Given the description of an element on the screen output the (x, y) to click on. 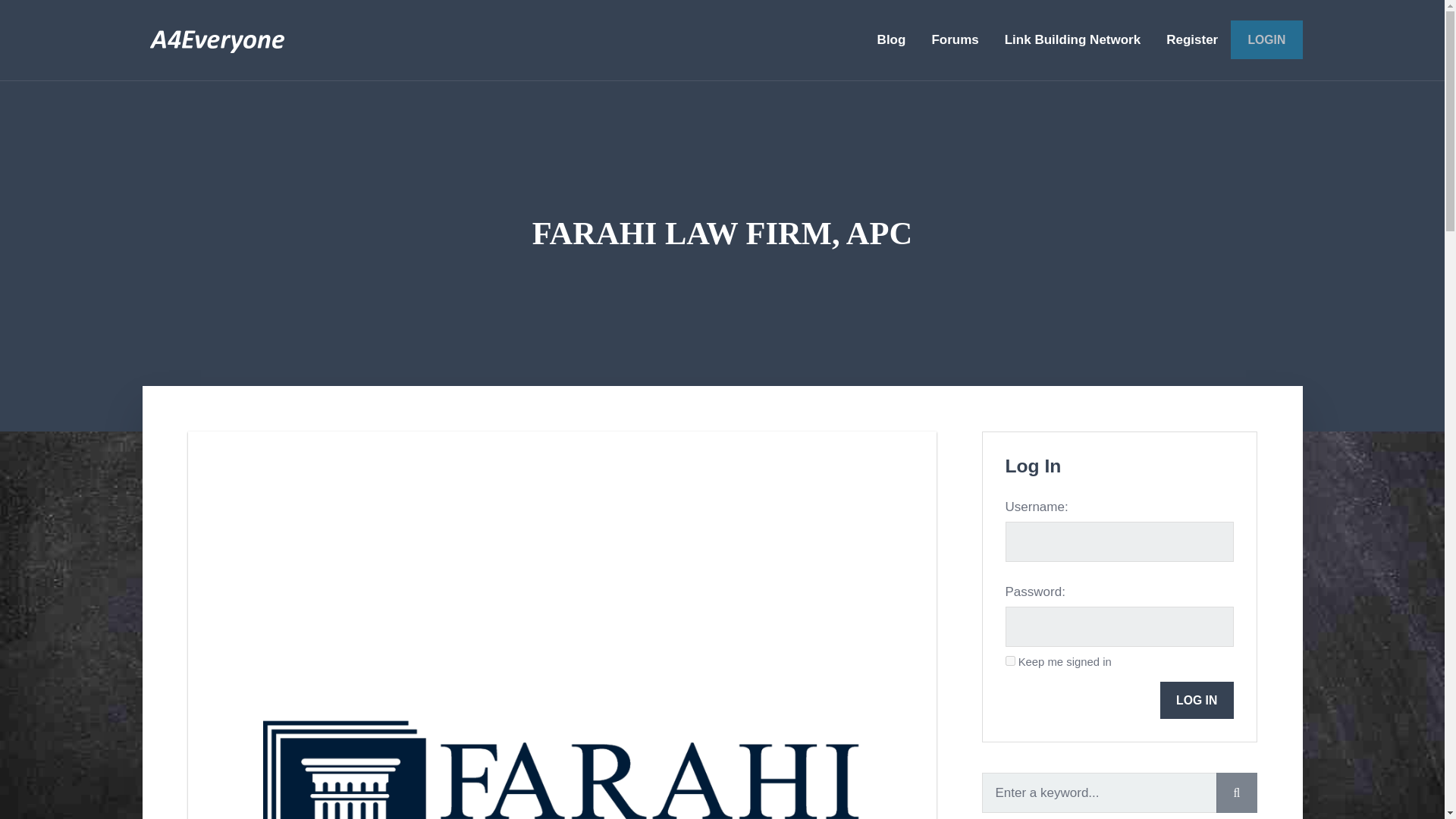
LOGIN (1265, 39)
forever (1010, 660)
Forums (954, 40)
Register (1191, 40)
Link Building Network (1072, 40)
LOG IN (1196, 700)
